Given the description of an element on the screen output the (x, y) to click on. 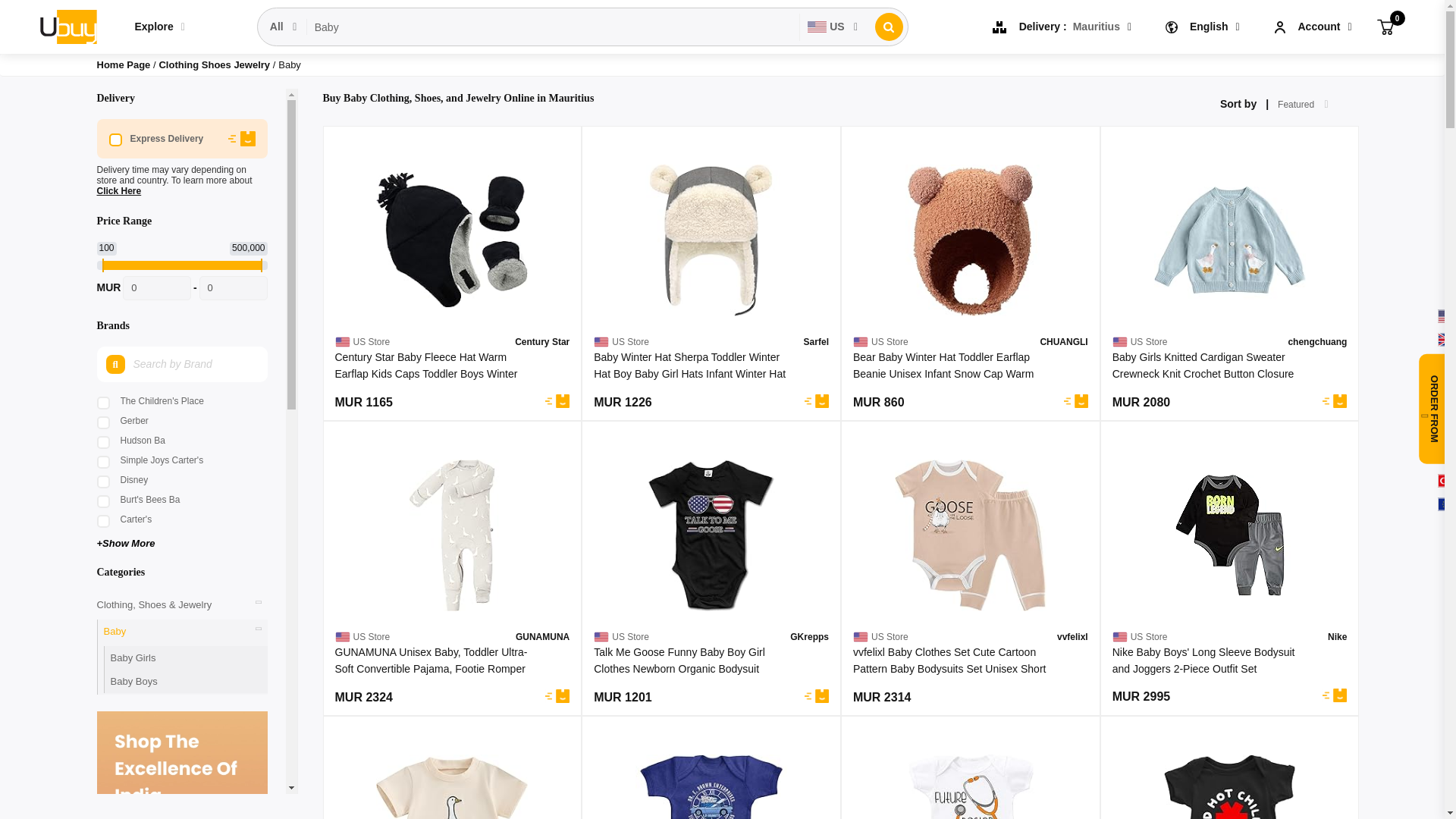
All (283, 26)
Home Page (124, 64)
0 (232, 288)
0 (156, 288)
Ubuy (67, 26)
Baby (553, 26)
Home Page (124, 64)
US (832, 26)
0 (1385, 26)
Cart (1385, 26)
Baby (553, 26)
